Given the description of an element on the screen output the (x, y) to click on. 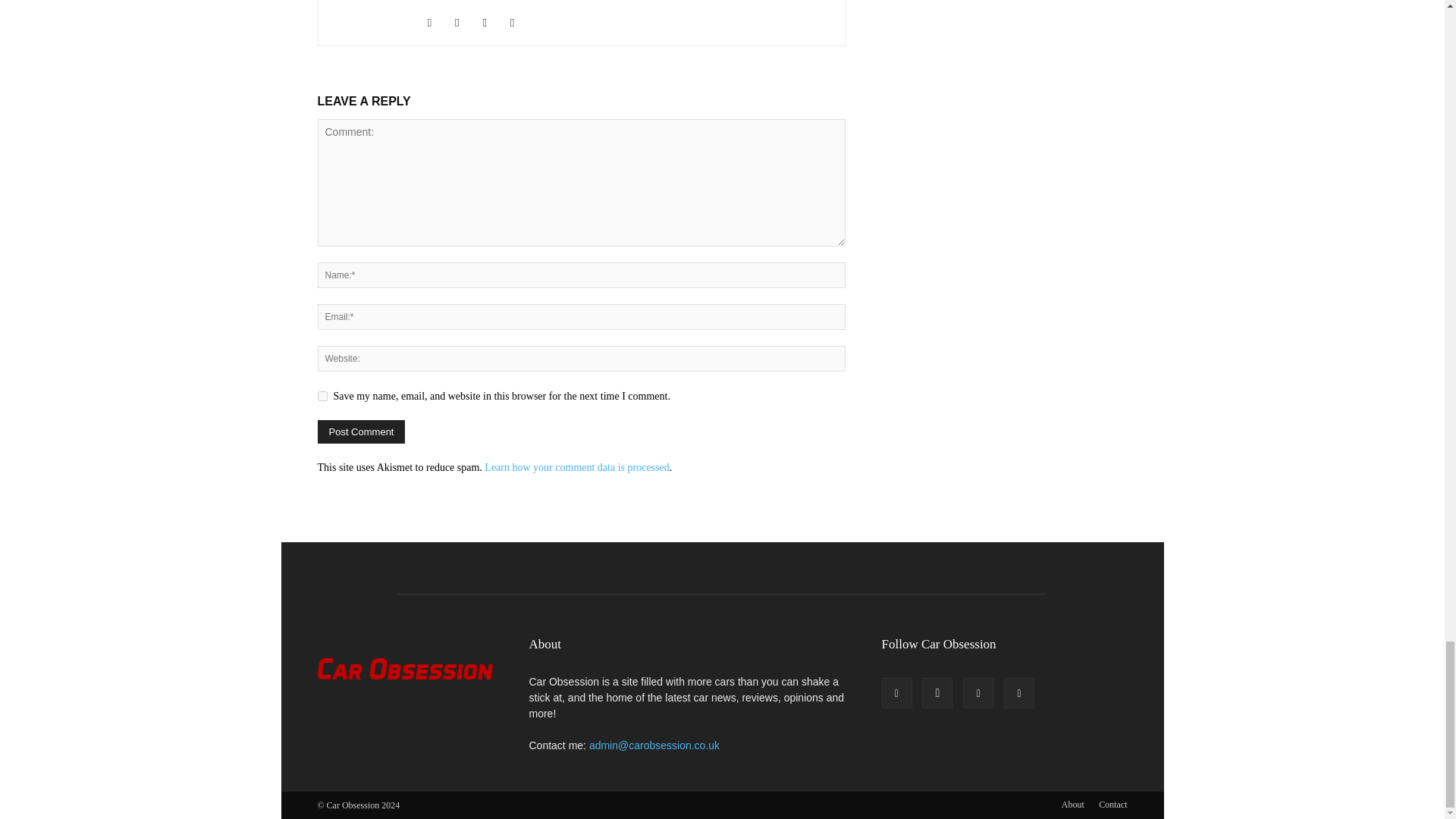
Post Comment (360, 431)
yes (321, 396)
